Given the description of an element on the screen output the (x, y) to click on. 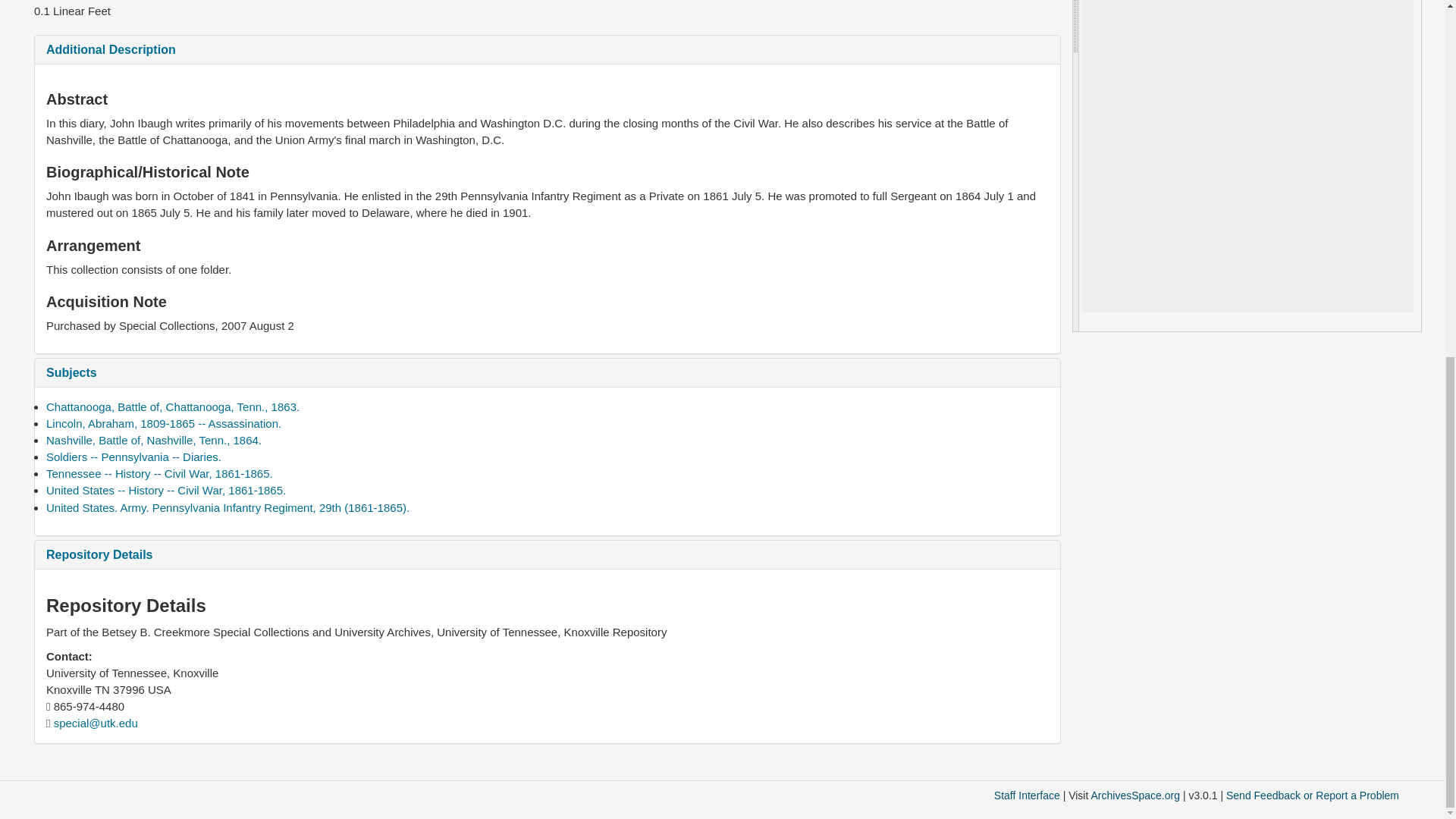
Tennessee -- History -- Civil War, 1861-1865. (159, 472)
Chattanooga, Battle of, Chattanooga, Tenn., 1863. (172, 406)
Repository Details (99, 554)
Send email (95, 722)
Lincoln, Abraham, 1809-1865 -- Assassination. (163, 422)
Nashville, Battle of, Nashville, Tenn., 1864. (154, 440)
Soldiers -- Pennsylvania -- Diaries. (133, 456)
Subjects (71, 372)
Additional Description (111, 49)
United States -- History -- Civil War, 1861-1865. (165, 490)
